Given the description of an element on the screen output the (x, y) to click on. 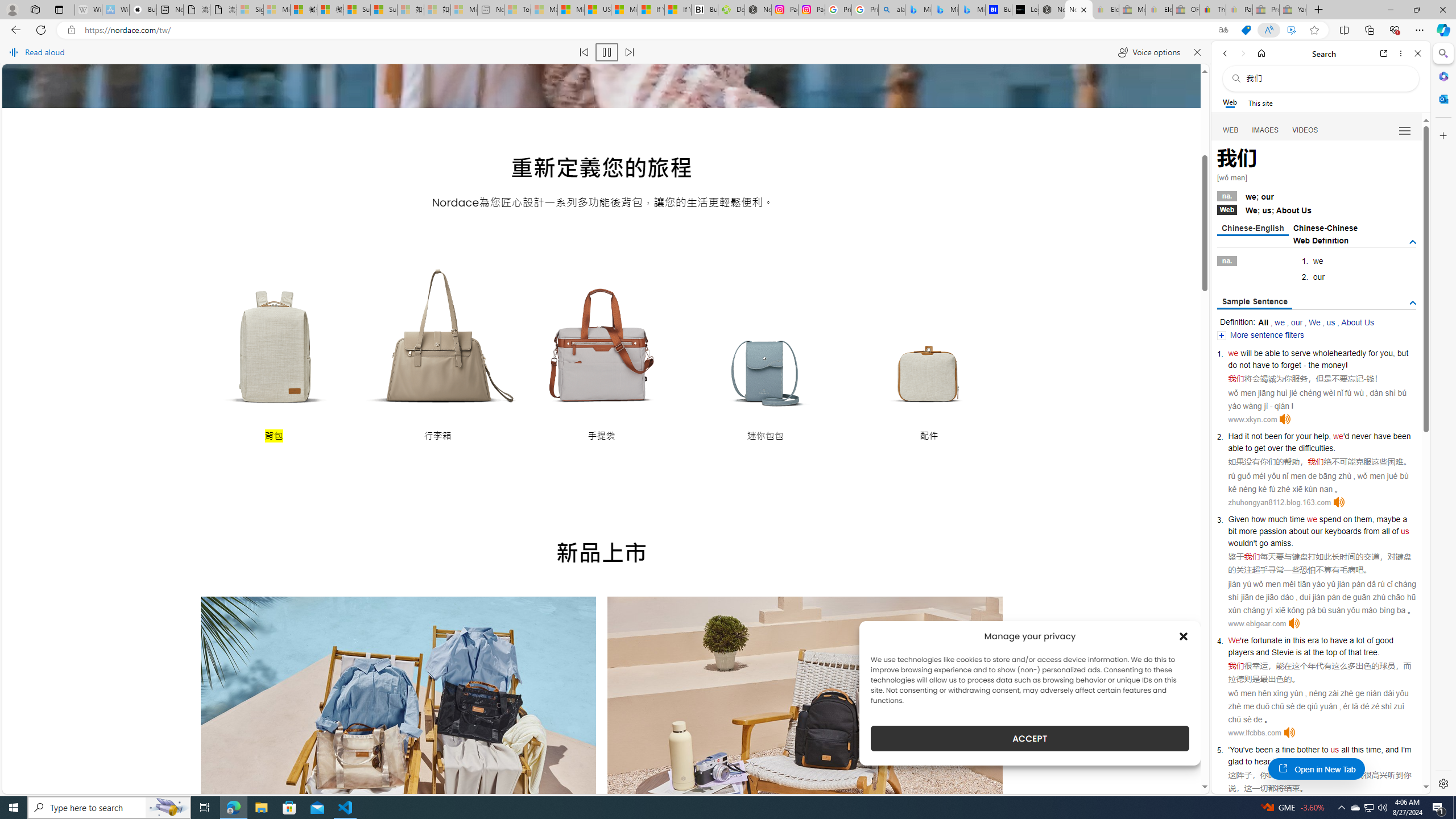
of (1395, 530)
top (1331, 651)
going (1294, 760)
Microsoft account | Account Checkup - Sleeping (463, 9)
Chinese-Chinese (1325, 227)
us (1334, 749)
